Given the description of an element on the screen output the (x, y) to click on. 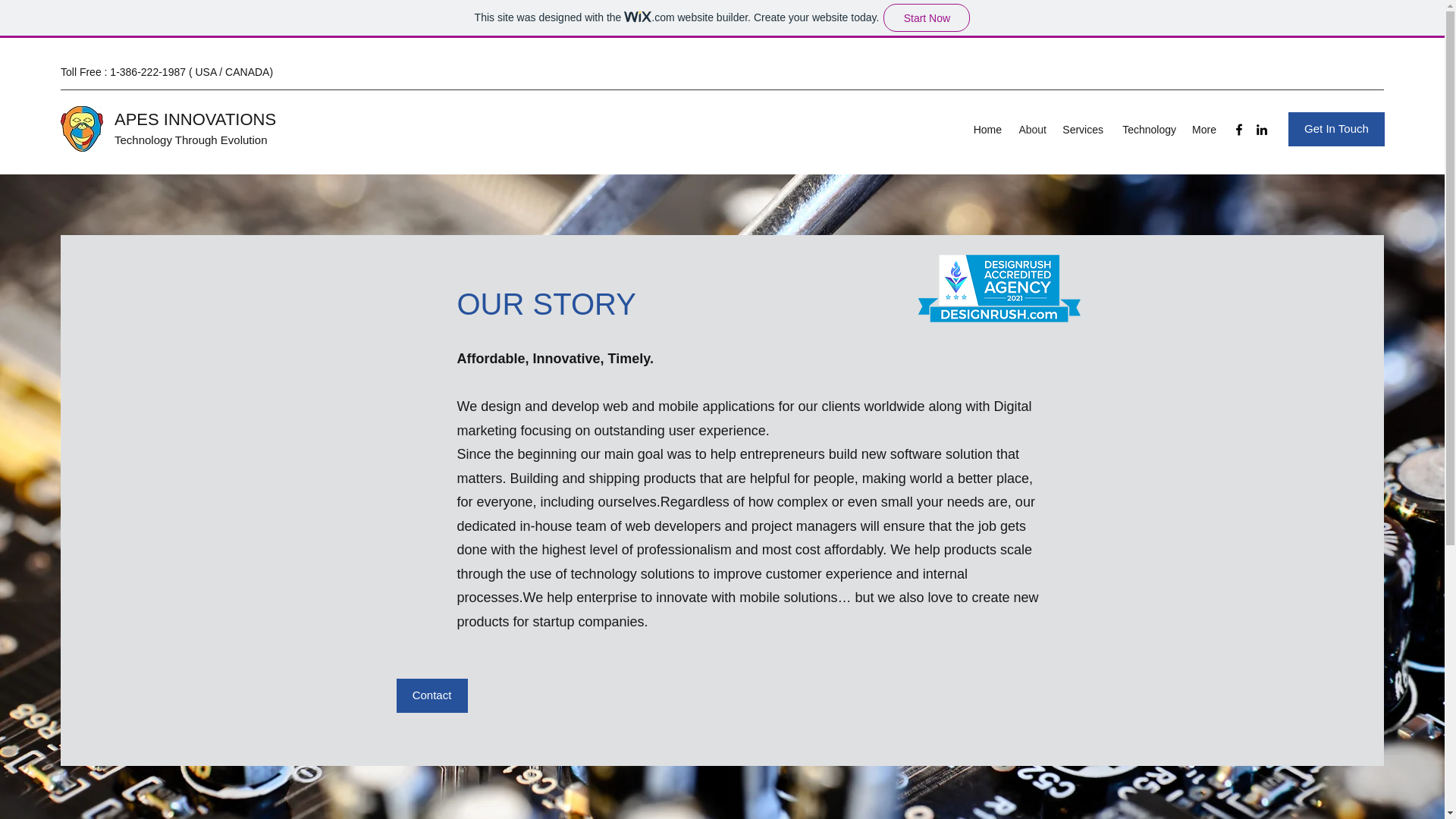
Get In Touch (1336, 129)
Technology (1146, 128)
About (1031, 128)
Contact (431, 695)
Services (1082, 128)
52.00-Design-Rush-Accredited-Badge2.png (998, 287)
Home (986, 128)
